Given the description of an element on the screen output the (x, y) to click on. 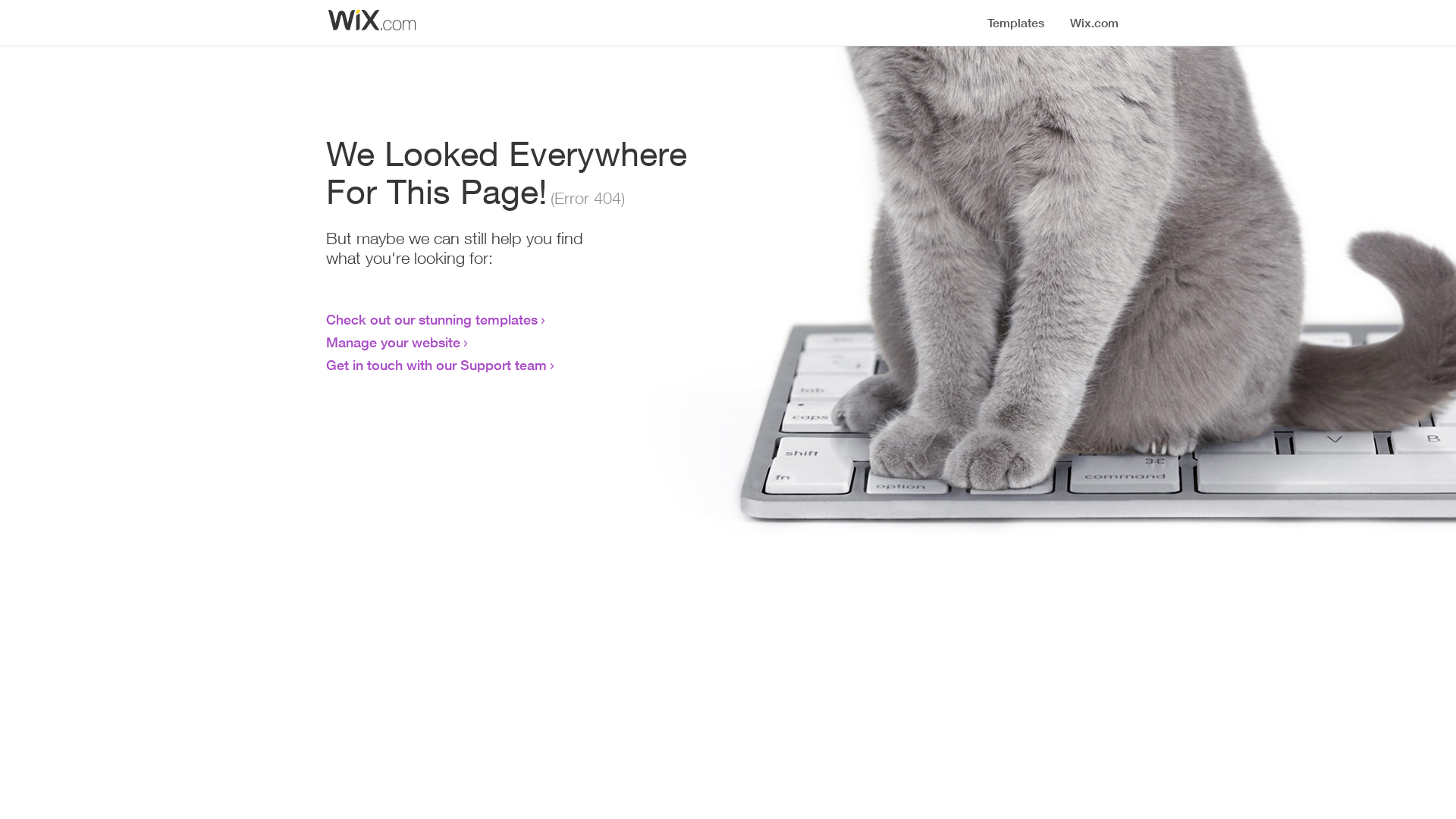
Manage your website Element type: text (393, 341)
Get in touch with our Support team Element type: text (436, 364)
Check out our stunning templates Element type: text (431, 318)
